Given the description of an element on the screen output the (x, y) to click on. 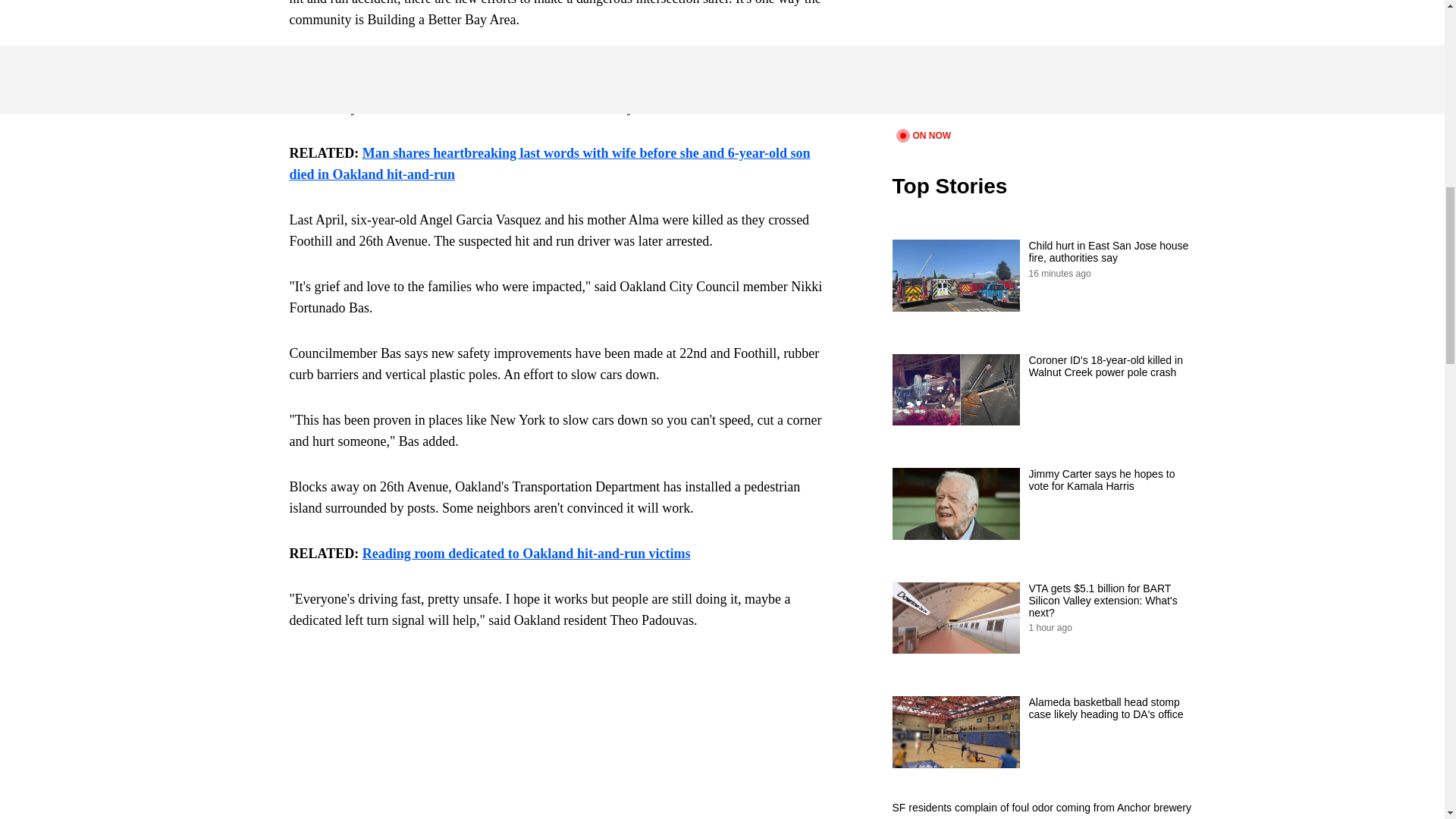
video.title (1043, 62)
